Given the description of an element on the screen output the (x, y) to click on. 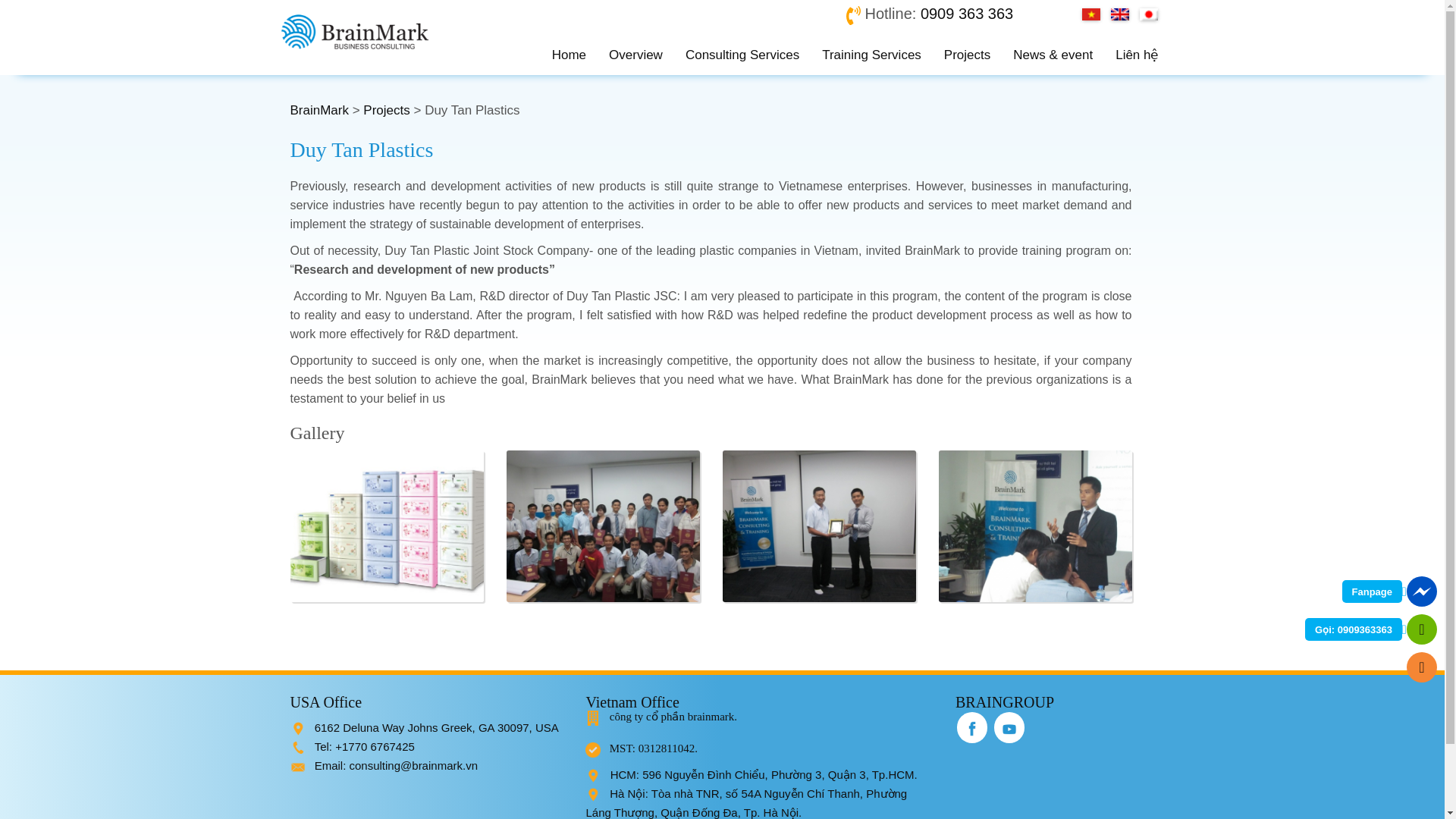
Vietnamese (1090, 14)
Home (568, 55)
Consulting Services (742, 55)
English (1118, 14)
Go to BrainMark. (318, 110)
Overview (635, 55)
Hotline: 0909 363 363 (940, 13)
Go to Projects. (385, 110)
Training Services (871, 55)
